Given the description of an element on the screen output the (x, y) to click on. 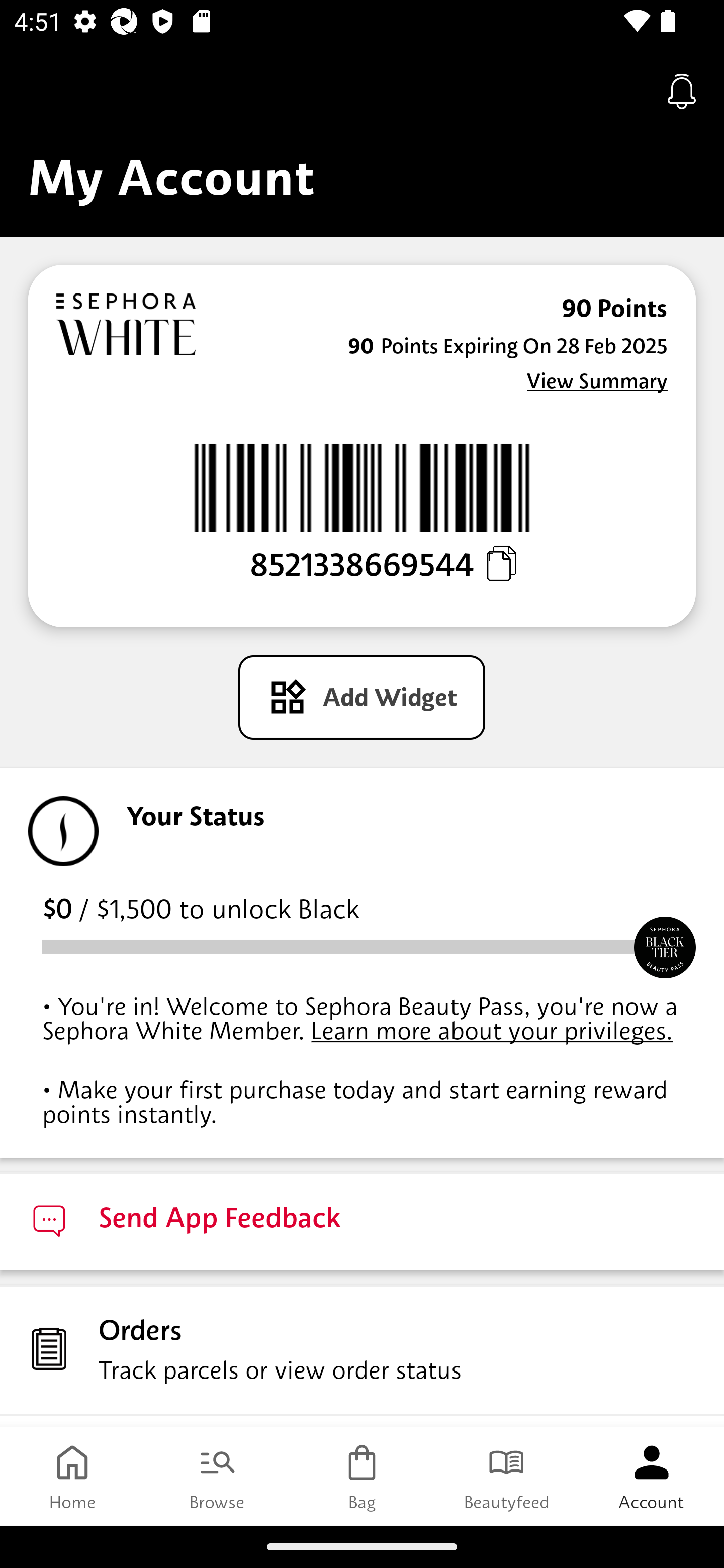
Notifications (681, 90)
View Summary (597, 381)
Add Widget (361, 697)
Send App Feedback (362, 1220)
Orders Track parcels or view order status (362, 1349)
Home (72, 1475)
Browse (216, 1475)
Bag (361, 1475)
Beautyfeed (506, 1475)
